Given the description of an element on the screen output the (x, y) to click on. 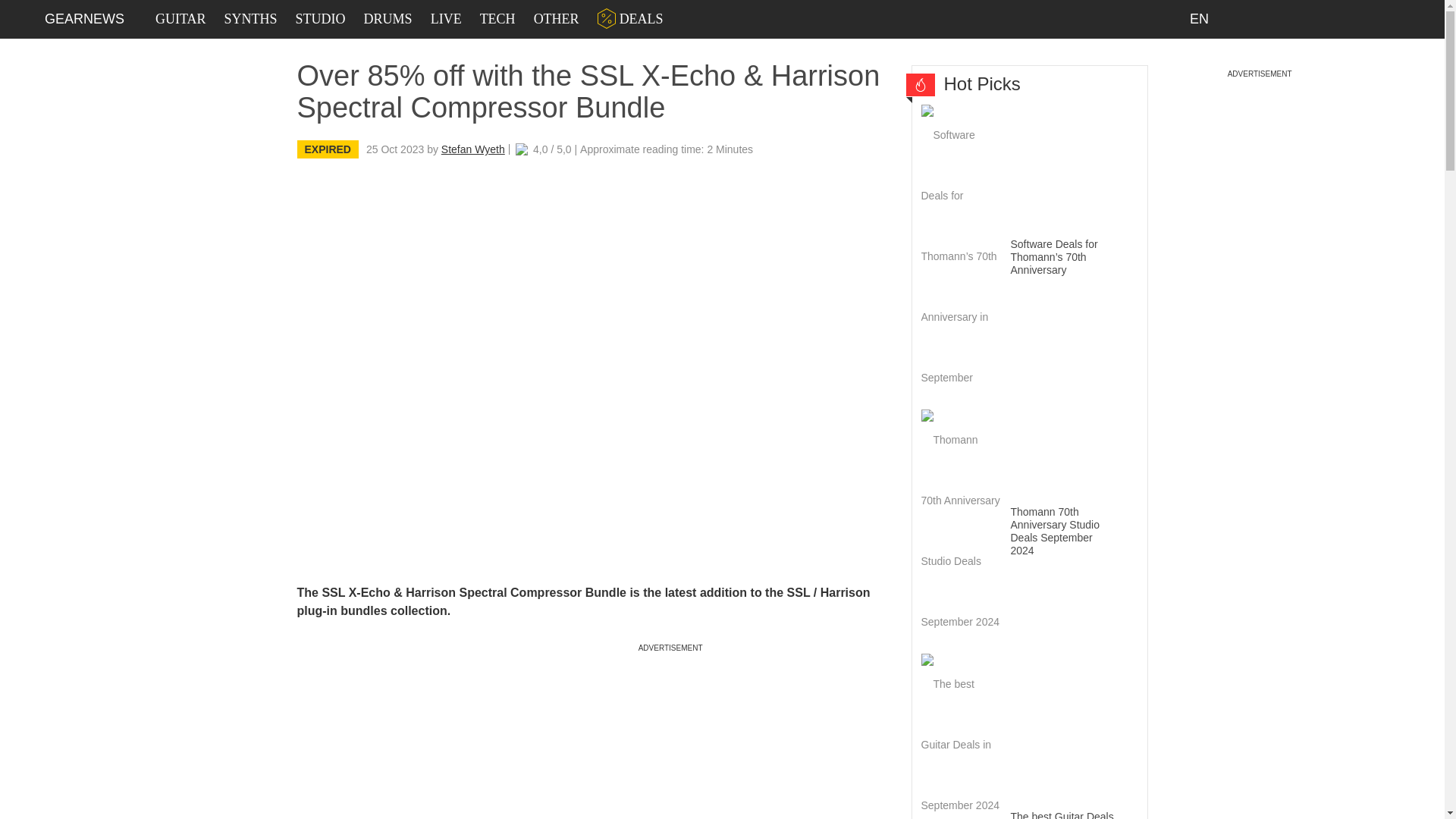
Approximate reading time: (665, 149)
LinkedIn (1248, 18)
GEARNEWS (84, 18)
DEALS (630, 19)
Instagram (1282, 18)
LIVE (445, 19)
DRUMS (387, 19)
OTHER (556, 19)
TECH (497, 19)
GUITAR (181, 19)
